Given the description of an element on the screen output the (x, y) to click on. 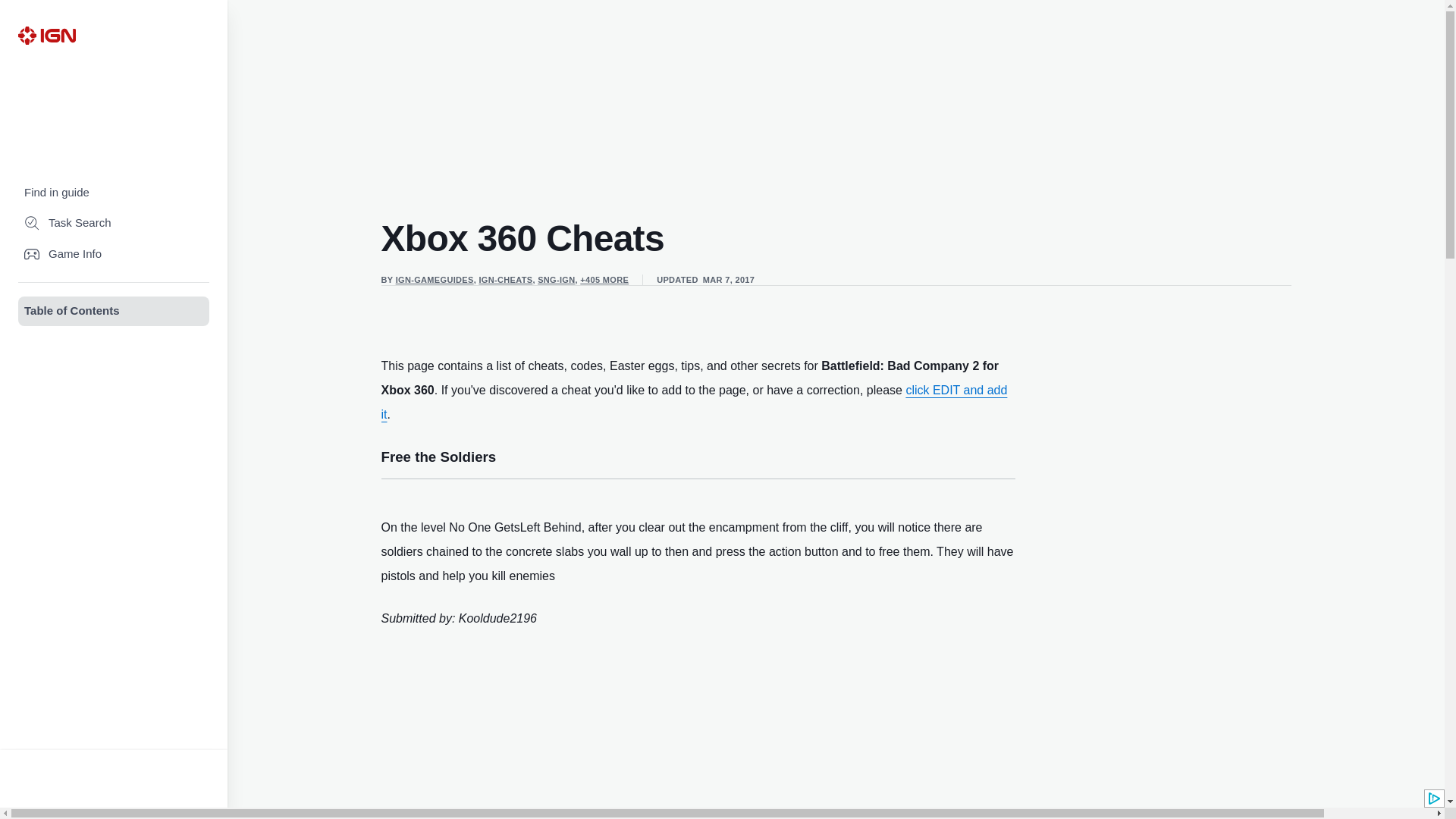
Game Info (113, 254)
click EDIT and add it (693, 402)
Table of Contents (113, 310)
IGN Logo (46, 34)
IGN-GAMEGUIDES (435, 279)
Task Search (113, 223)
Find in guide (113, 193)
SNG-IGN (556, 279)
Find in guide (113, 193)
Game Info (113, 254)
IGN (46, 35)
IGN-CHEATS (505, 279)
Task Search (113, 223)
Table of Contents (113, 310)
IGN Logo (46, 35)
